Given the description of an element on the screen output the (x, y) to click on. 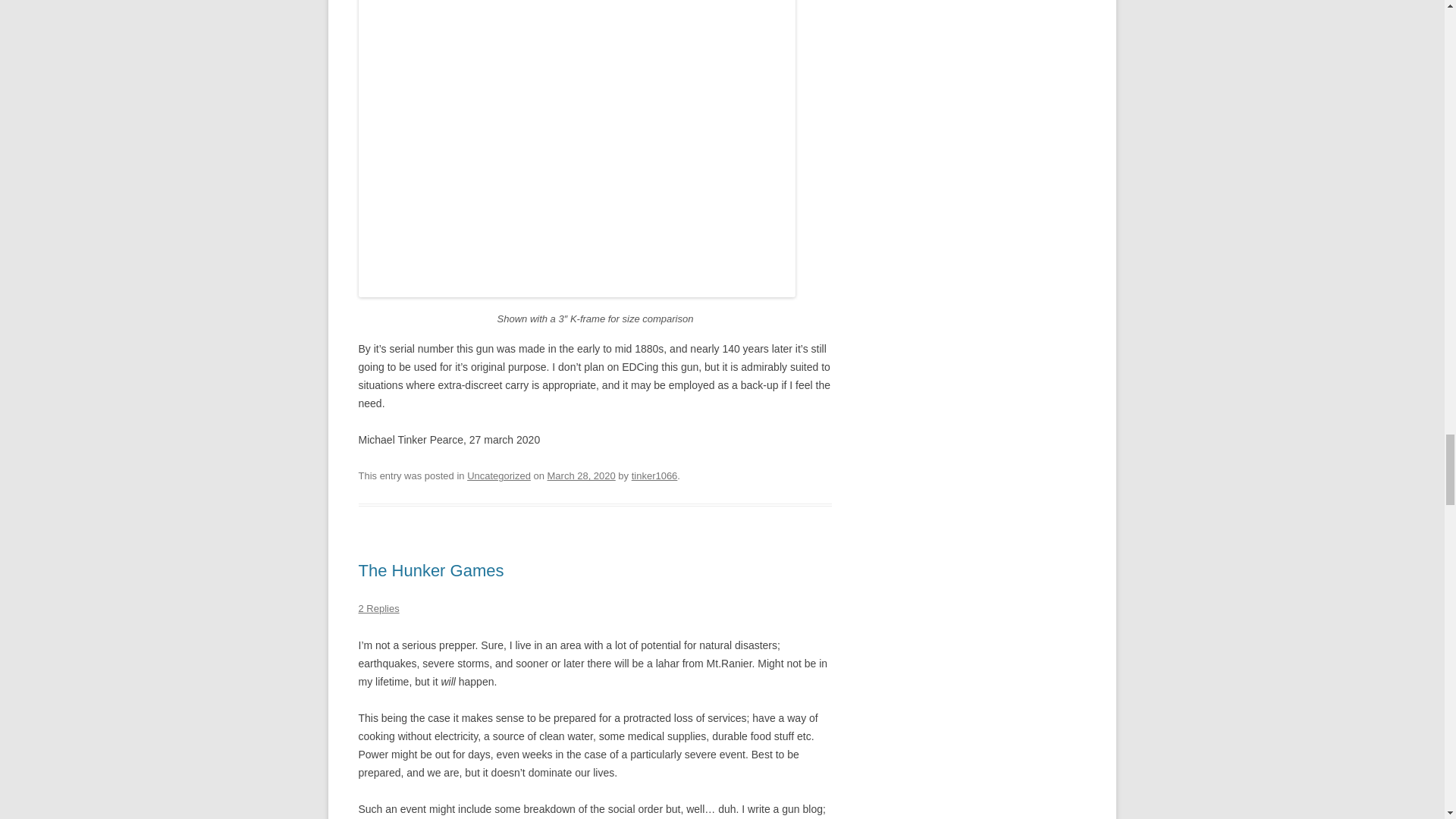
tinker1066 (654, 475)
2 Replies (378, 608)
The Hunker Games (430, 570)
View all posts by tinker1066 (654, 475)
Uncategorized (499, 475)
March 28, 2020 (581, 475)
3:15 am (581, 475)
